Given the description of an element on the screen output the (x, y) to click on. 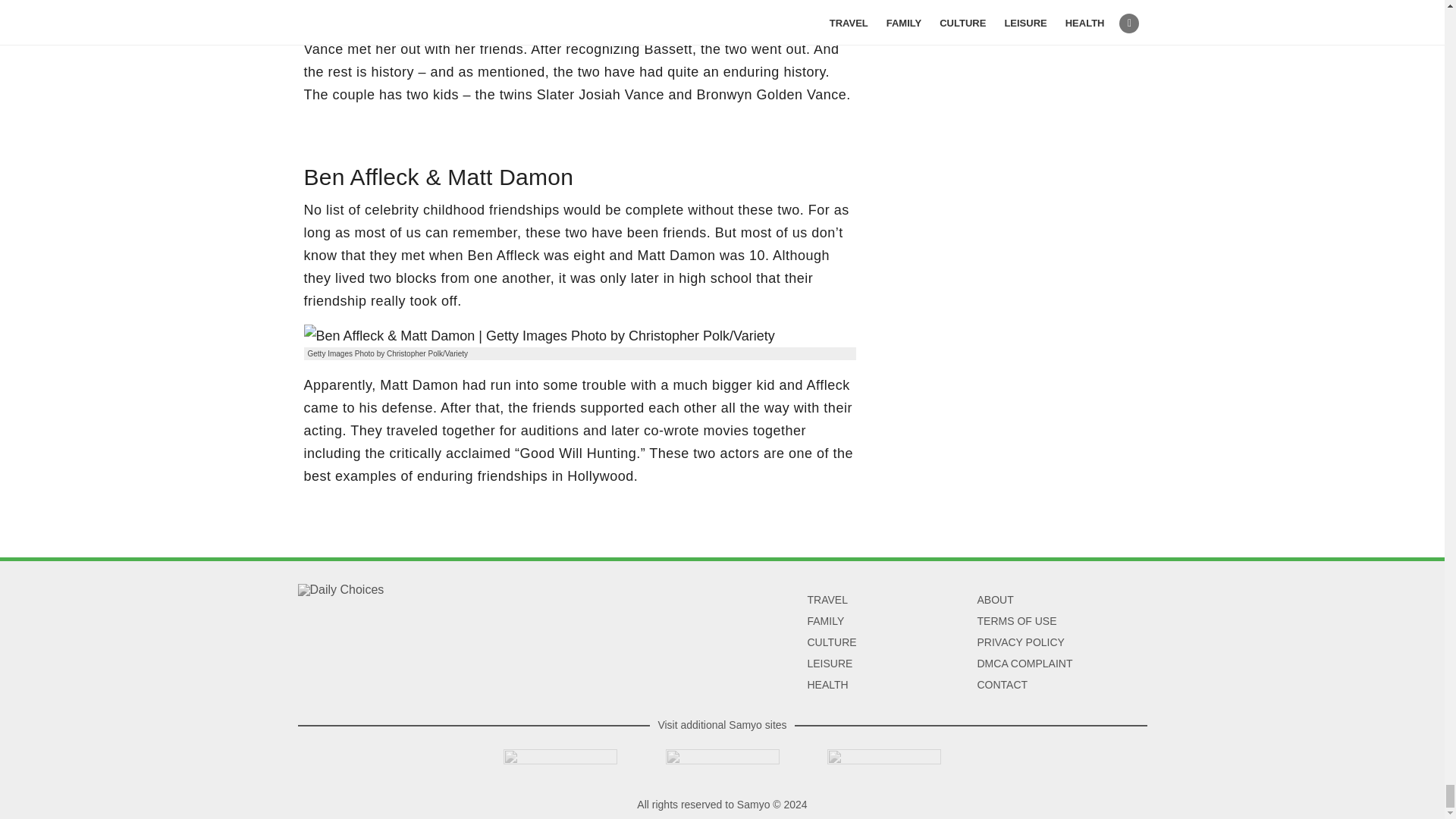
LEISURE (828, 663)
CONTACT (1001, 684)
DMCA COMPLAINT (1023, 663)
PRIVACY POLICY (1020, 642)
TRAVEL (826, 599)
HEALTH (826, 684)
FAMILY (825, 621)
TERMS OF USE (1016, 621)
ABOUT (994, 599)
CULTURE (831, 642)
